Given the description of an element on the screen output the (x, y) to click on. 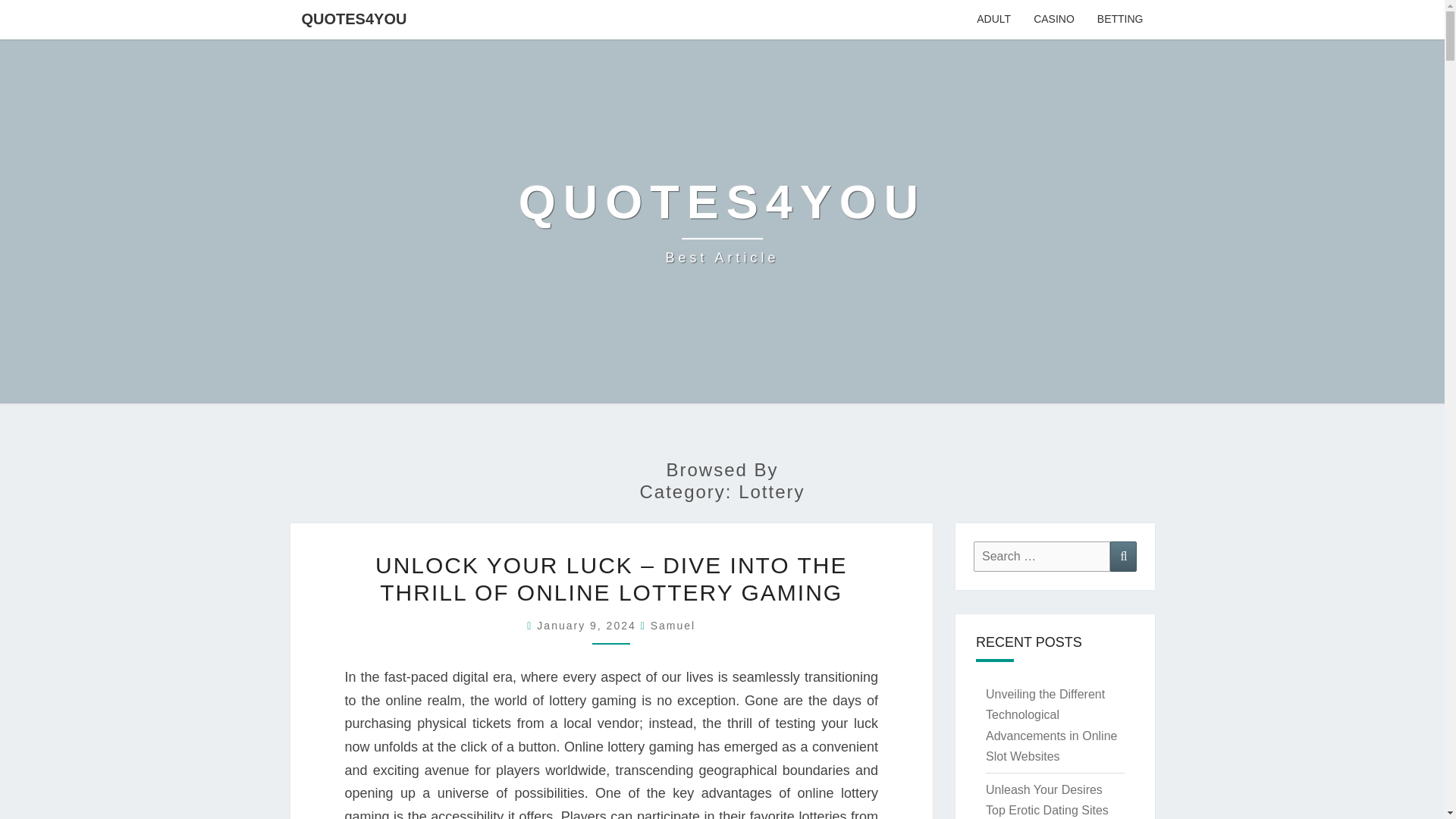
BETTING (1120, 19)
CASINO (722, 221)
Samuel (1054, 19)
Quotes4you (672, 625)
9:36 am (722, 221)
January 9, 2024 (588, 625)
View all posts by Samuel (588, 625)
QUOTES4YOU (672, 625)
ADULT (353, 18)
